Given the description of an element on the screen output the (x, y) to click on. 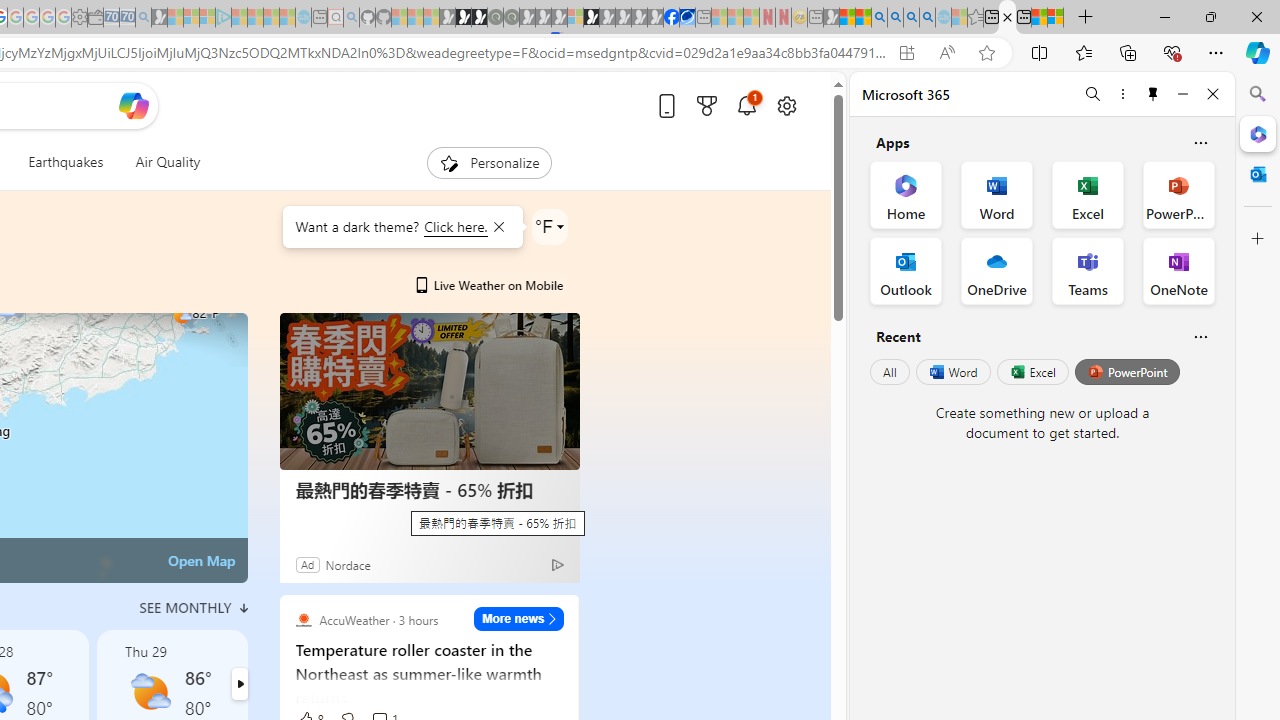
Earthquakes (65, 162)
Google Chrome Internet Browser Download - Search Images (927, 17)
Nordace | Facebook (671, 17)
Excel Office App (1087, 194)
Excel (1031, 372)
